Given the description of an element on the screen output the (x, y) to click on. 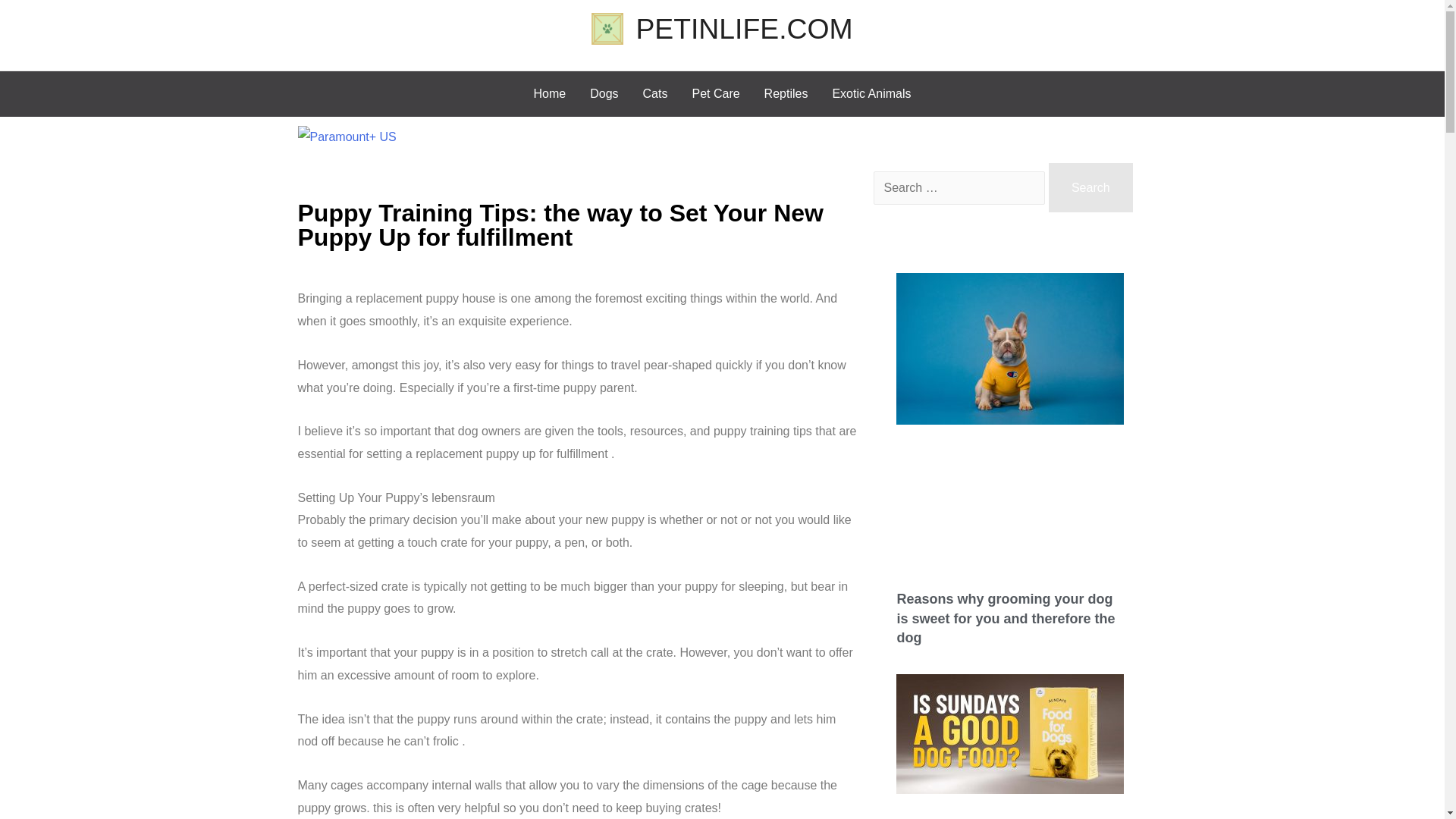
Home (549, 94)
Search (1090, 187)
Dogs (604, 94)
Search (1090, 187)
Exotic Animals (871, 94)
PETINLIFE.COM (742, 29)
Reptiles (786, 94)
Cats (654, 94)
Pet Care (715, 94)
